Given the description of an element on the screen output the (x, y) to click on. 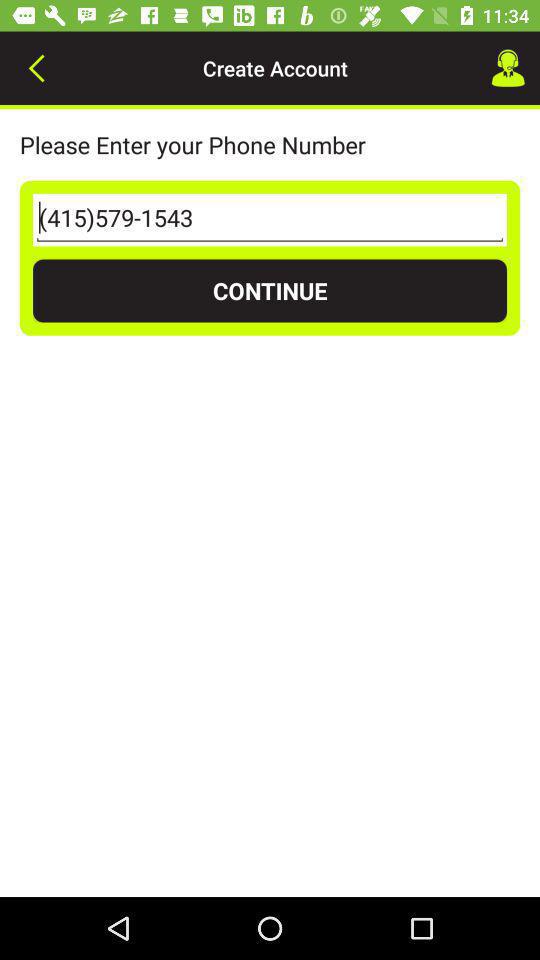
flip until continue (270, 290)
